Given the description of an element on the screen output the (x, y) to click on. 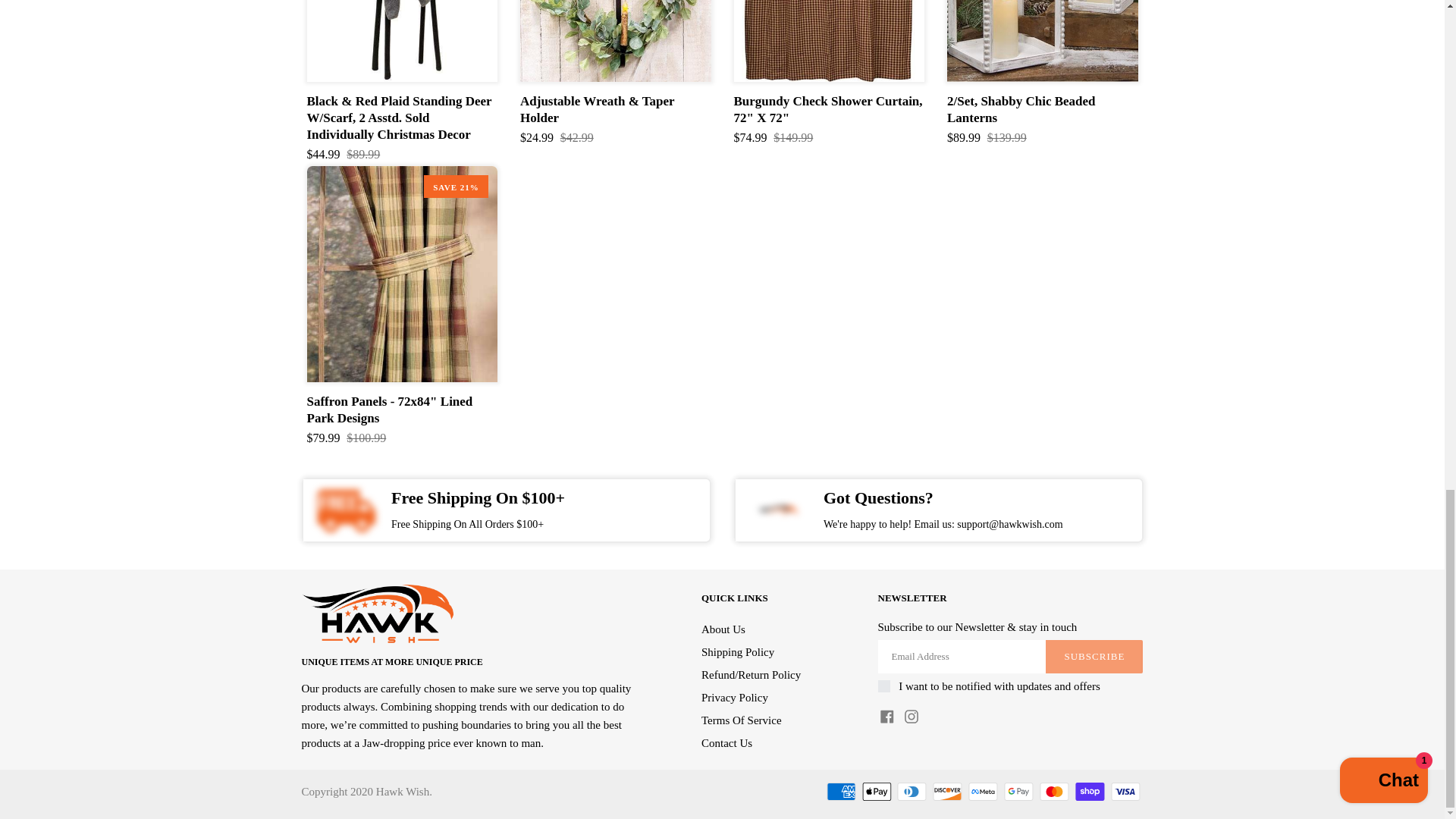
Hawk Wish on Facebook (886, 715)
Hawk Wish on Instagram (911, 715)
